Given the description of an element on the screen output the (x, y) to click on. 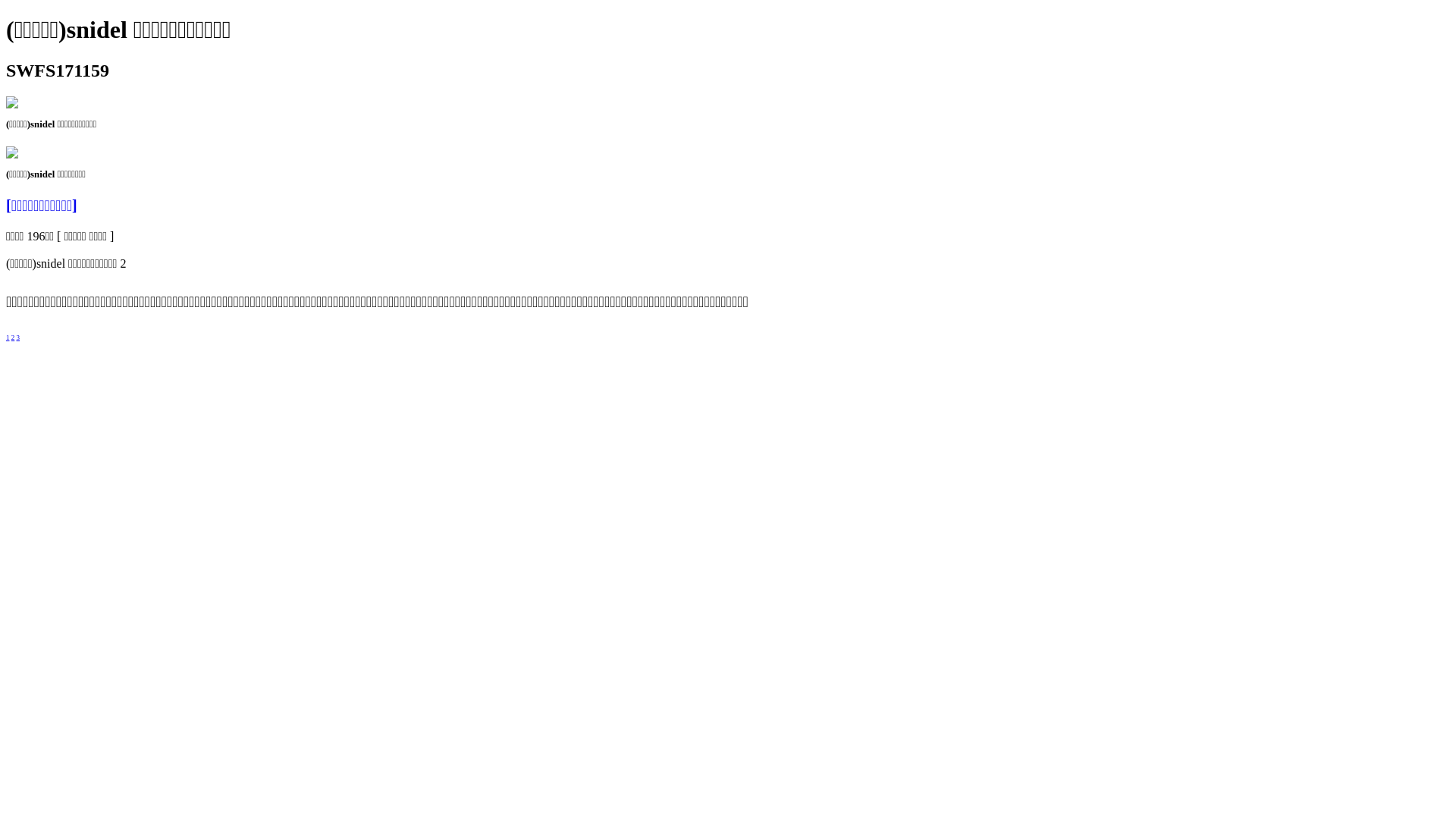
1 Element type: text (7, 337)
2 Element type: text (13, 337)
3 Element type: text (18, 337)
